Given the description of an element on the screen output the (x, y) to click on. 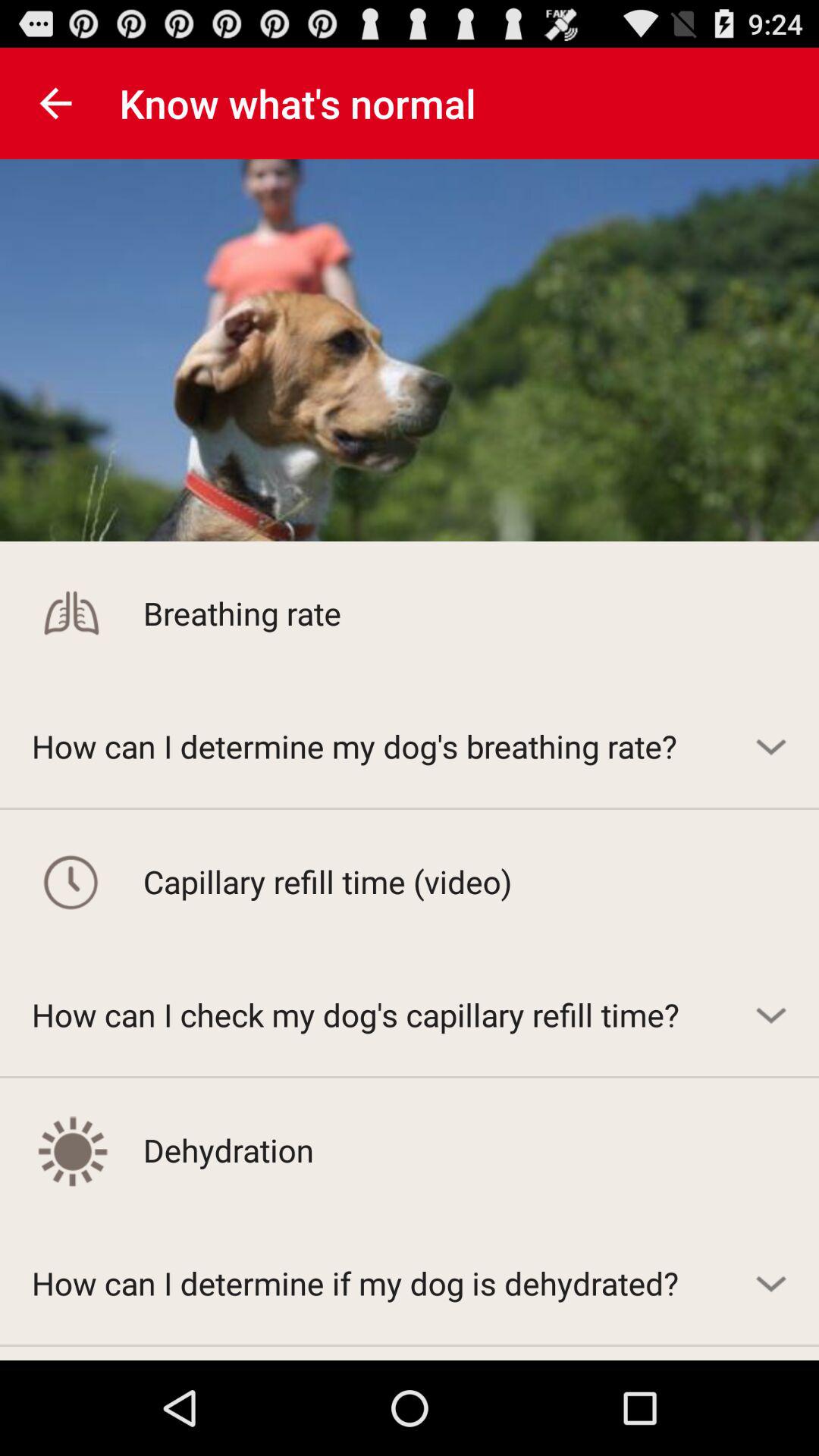
select app next to the know what s app (55, 103)
